Given the description of an element on the screen output the (x, y) to click on. 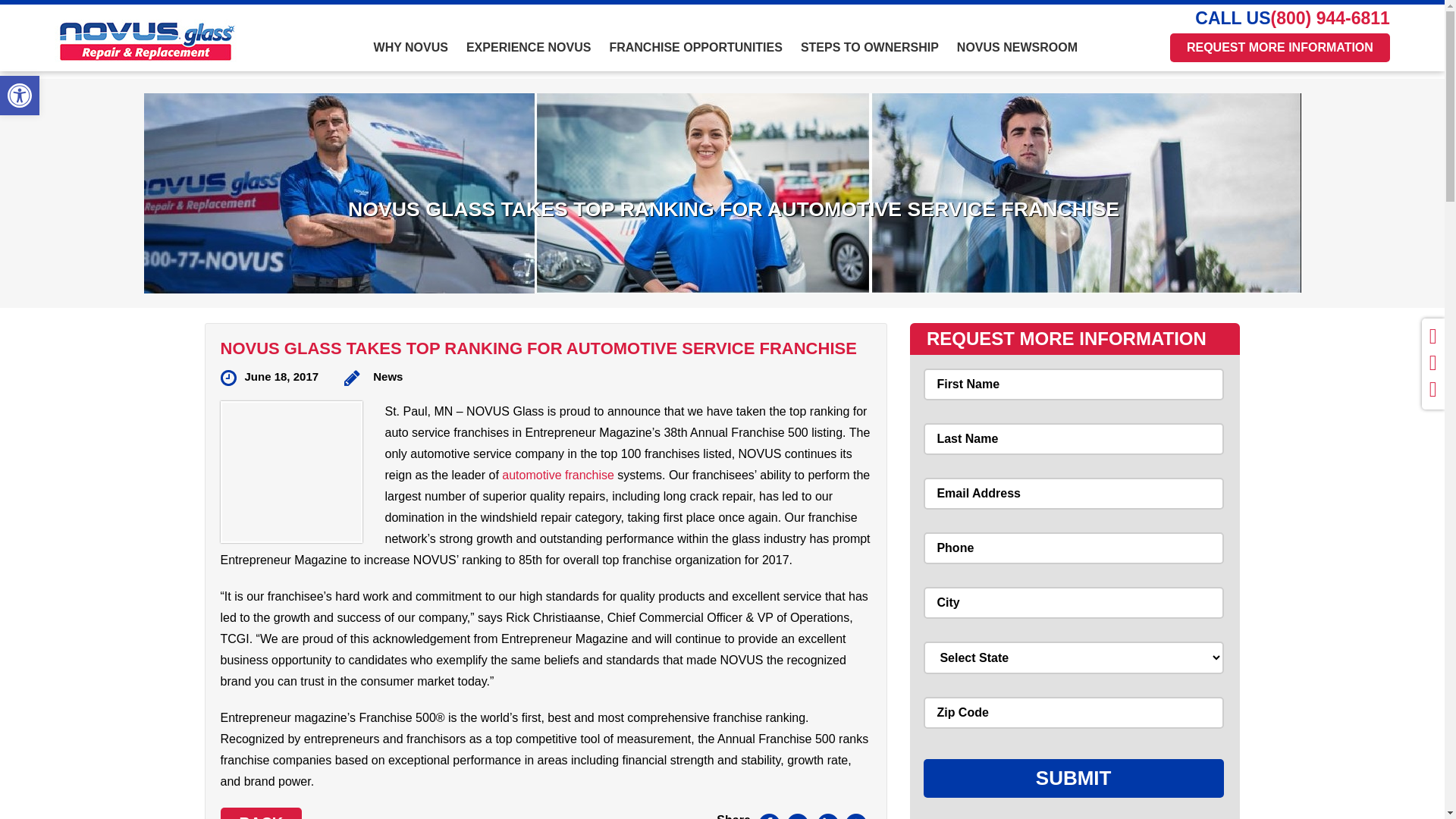
NOVUS Glass (156, 40)
Accessibility Tools (19, 95)
FRANCHISE OPPORTUNITIES (694, 55)
NOVUS NEWSROOM (1016, 55)
Submit (1073, 778)
BACK (260, 813)
automotive franchise (558, 474)
REQUEST MORE INFORMATION (1280, 47)
STEPS TO OWNERSHIP (869, 55)
News (373, 377)
Share on Facebook (769, 816)
Share on Twitter (798, 816)
WHY NOVUS (411, 55)
Share on Linkedin (827, 816)
